Given the description of an element on the screen output the (x, y) to click on. 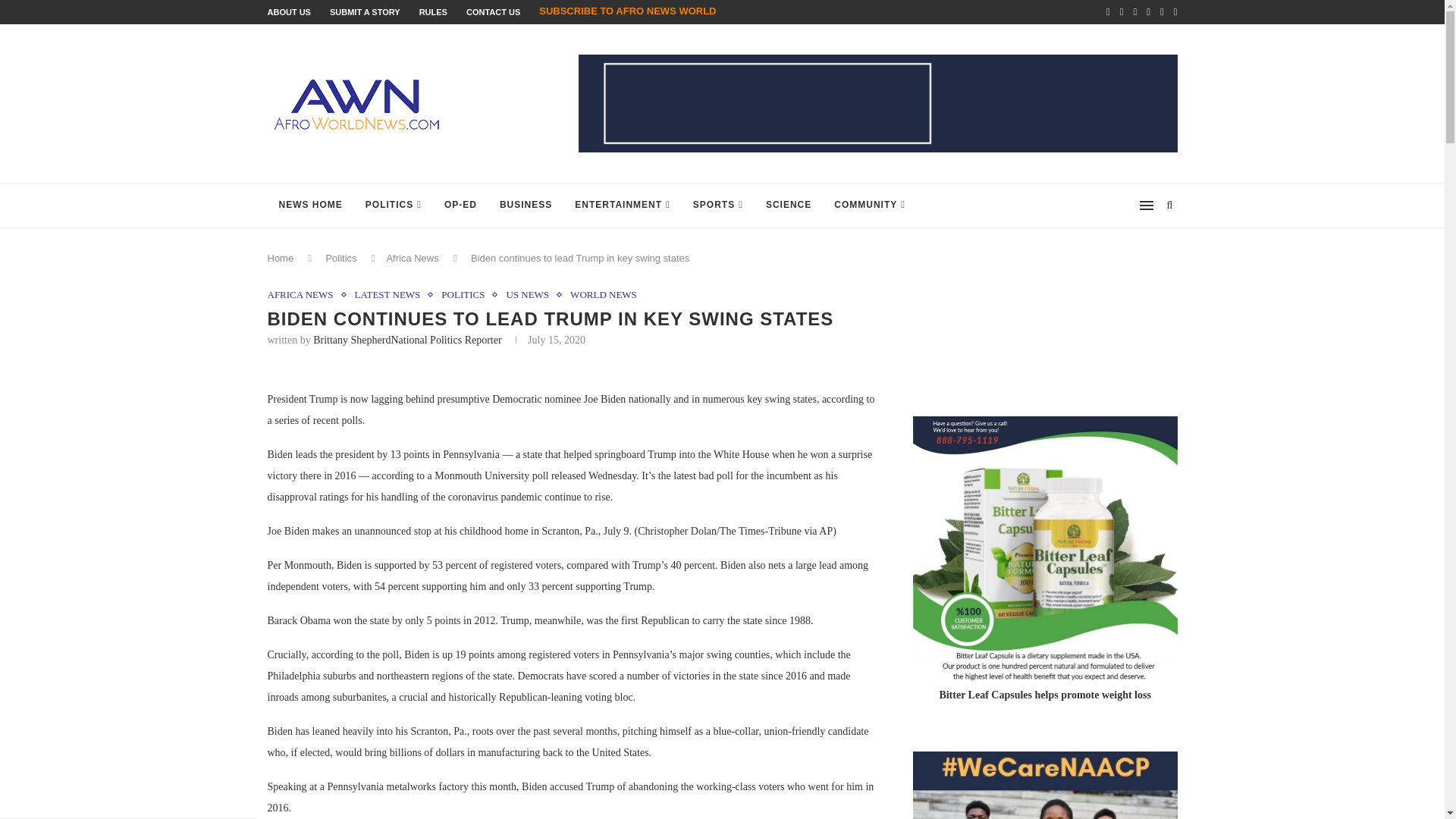
CONTACT US (492, 11)
ABOUT US (288, 11)
SUBMIT A STORY (365, 11)
RULES (432, 11)
